Given the description of an element on the screen output the (x, y) to click on. 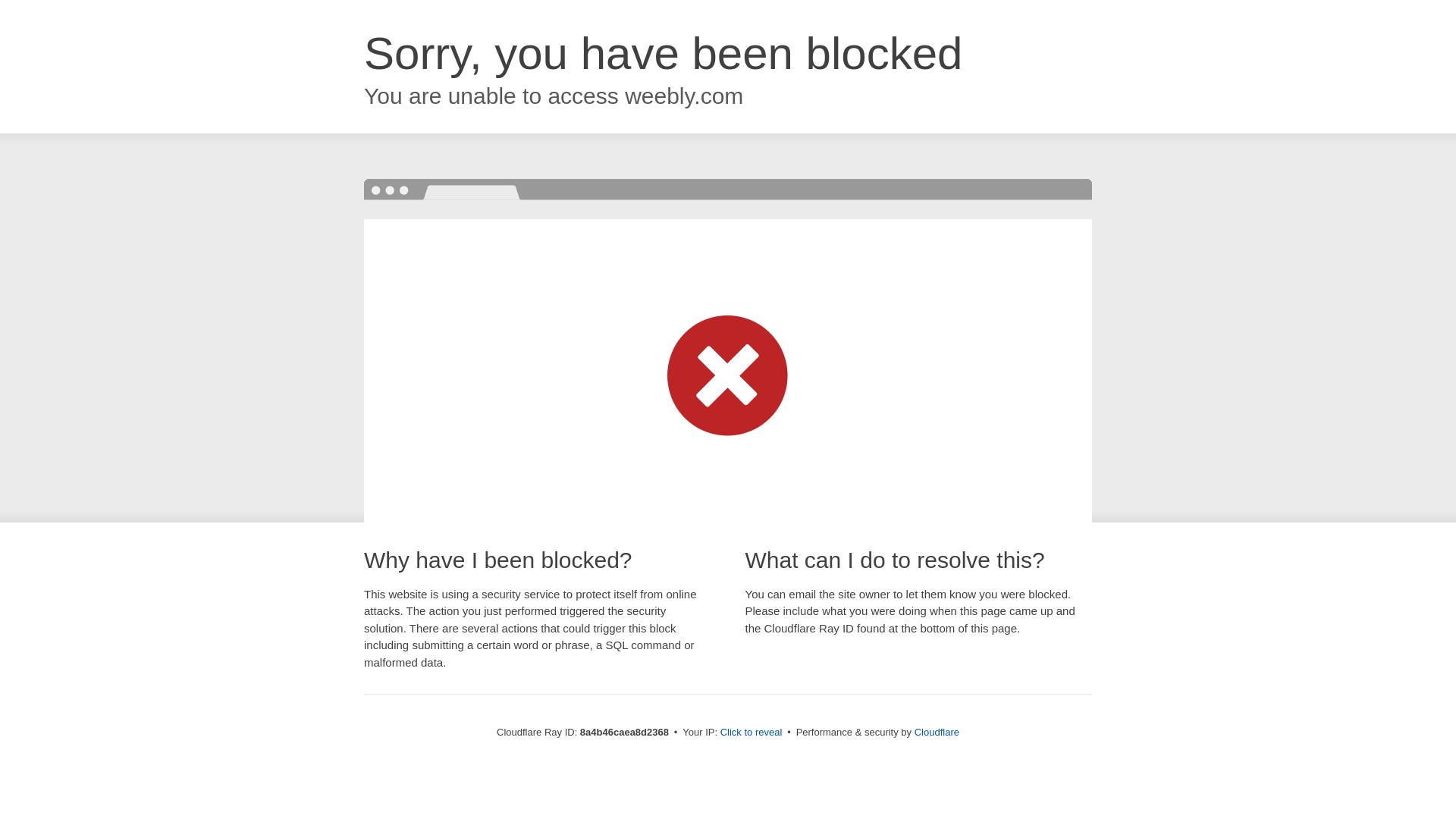
Click to reveal (751, 732)
Cloudflare (936, 731)
